Given the description of an element on the screen output the (x, y) to click on. 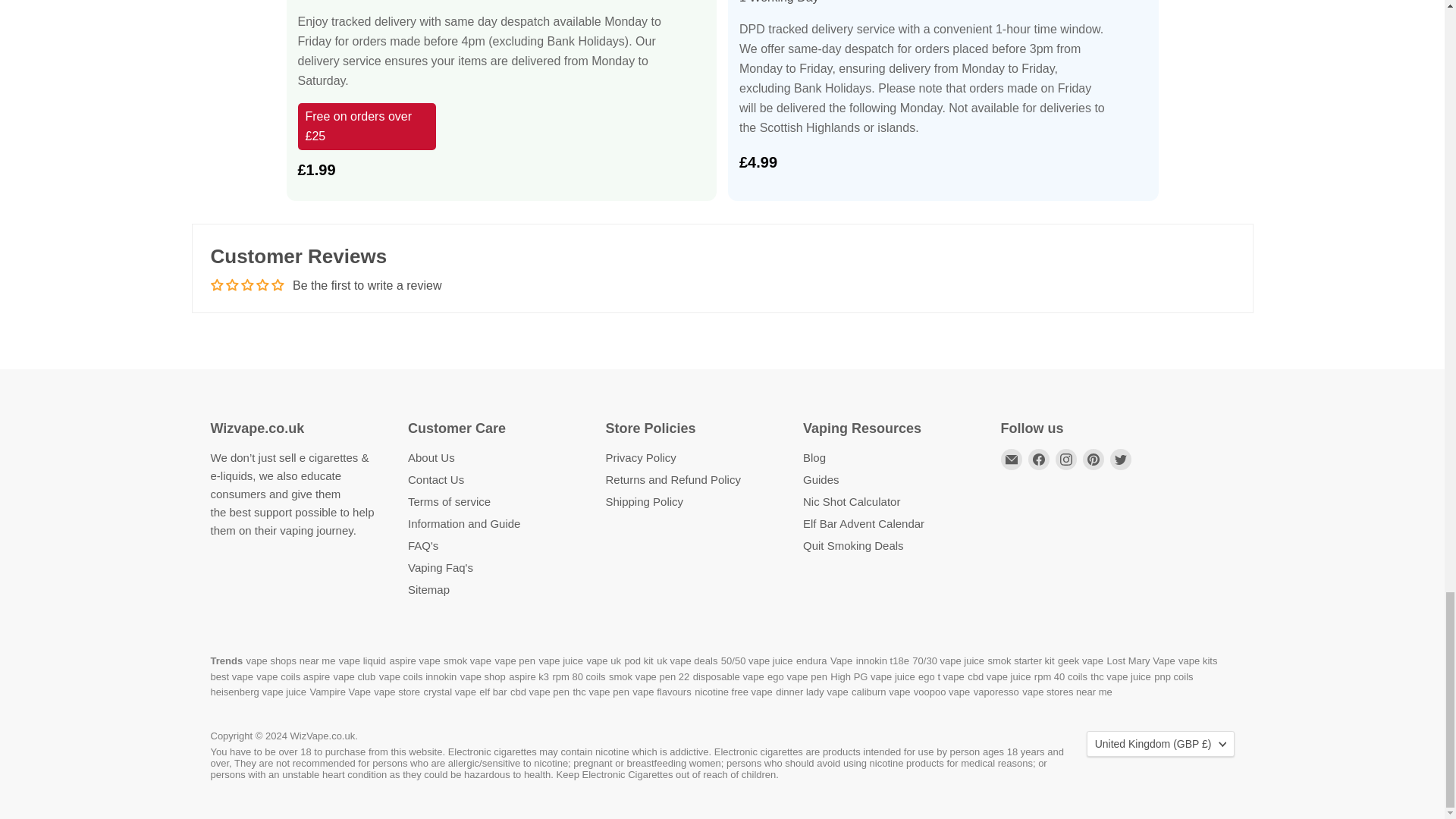
vape juice (560, 668)
Instagram (1066, 459)
Twitter (1120, 459)
smok vape (468, 668)
aspire vape (413, 668)
vape uk (603, 668)
Pinterest (1093, 459)
vape pen (515, 668)
Facebook (1038, 459)
E-mail (1011, 459)
vape shops near me (291, 668)
vape liquid (362, 668)
